Given the description of an element on the screen output the (x, y) to click on. 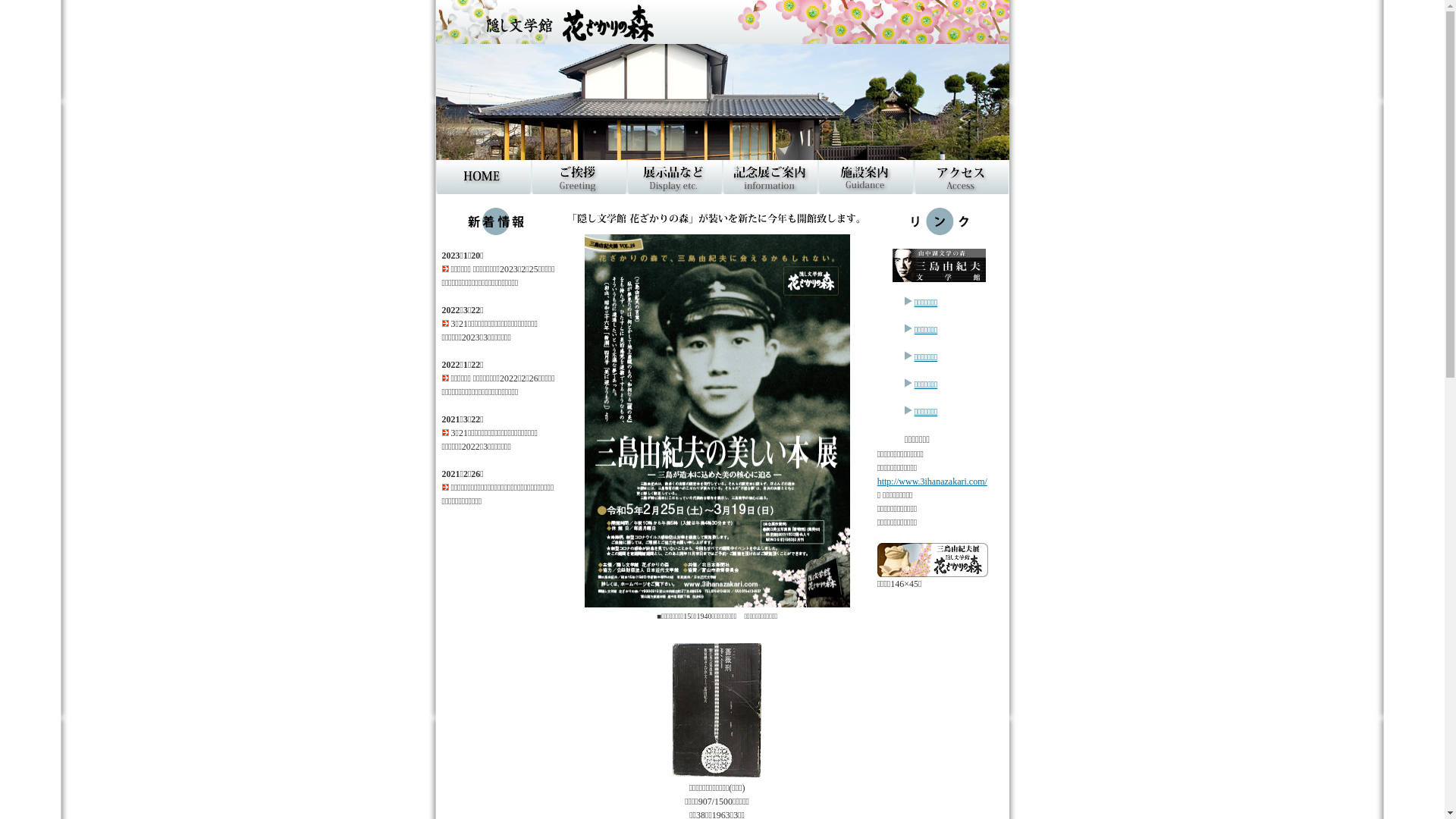
http://www.3ihanazakari.com/ Element type: text (932, 481)
HOME Element type: text (482, 177)
